Given the description of an element on the screen output the (x, y) to click on. 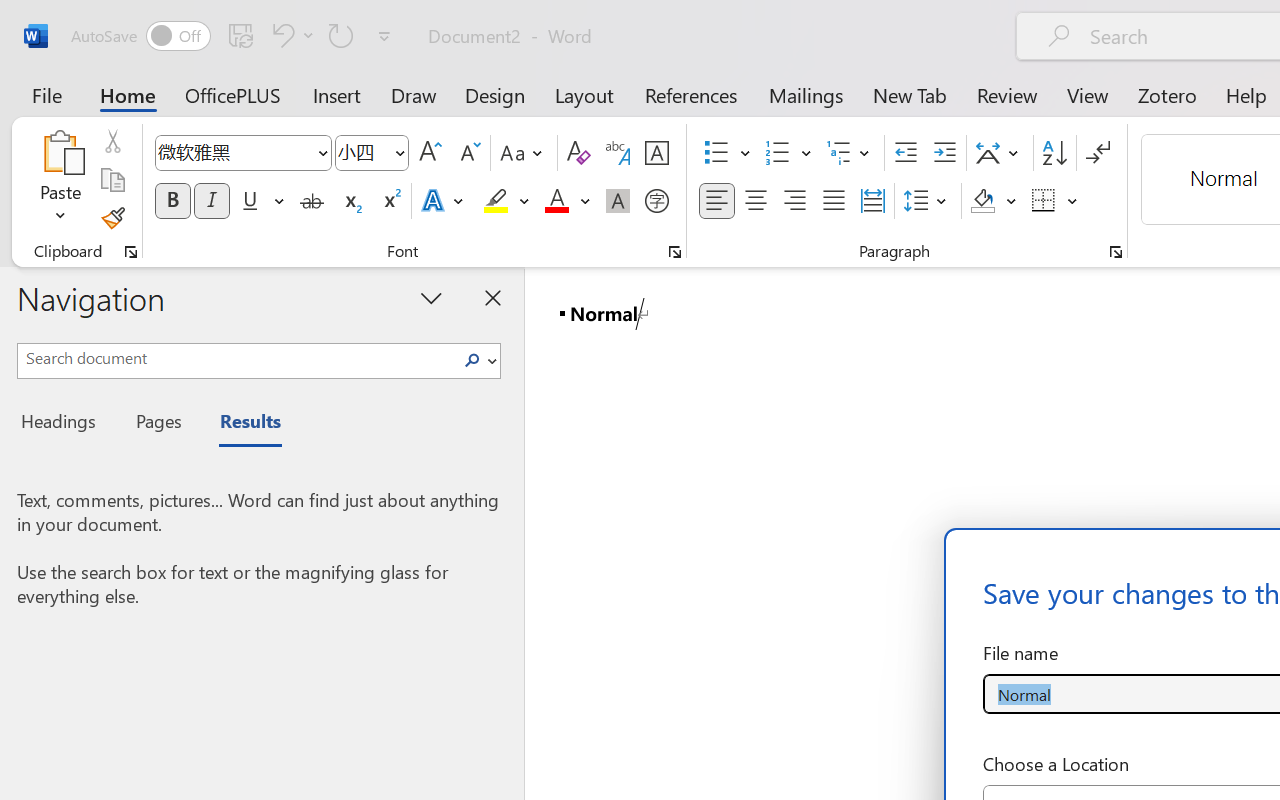
Insert (337, 94)
Borders (1044, 201)
Class: NetUIImage (471, 360)
Save (241, 35)
Font Color (567, 201)
Pages (156, 424)
Text Highlight Color Yellow (495, 201)
Sort... (1054, 153)
New Tab (909, 94)
Copy (112, 179)
Bullets (716, 153)
Superscript (390, 201)
Distributed (872, 201)
Font Size (362, 152)
Increase Indent (944, 153)
